Given the description of an element on the screen output the (x, y) to click on. 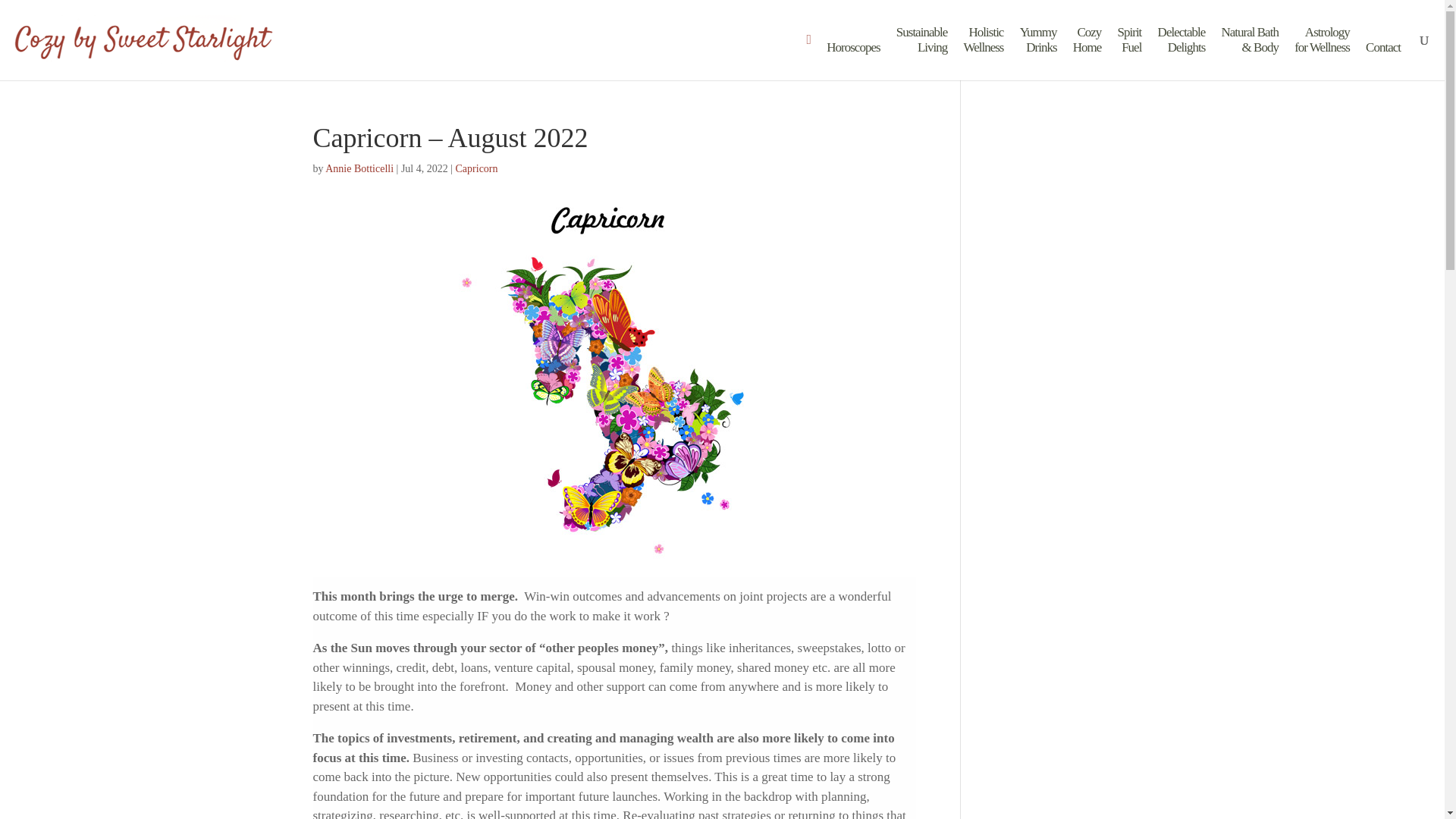
Posts by Annie Botticelli (358, 168)
Annie Botticelli (921, 52)
Horoscopes (358, 168)
Capricorn (1321, 52)
